Given the description of an element on the screen output the (x, y) to click on. 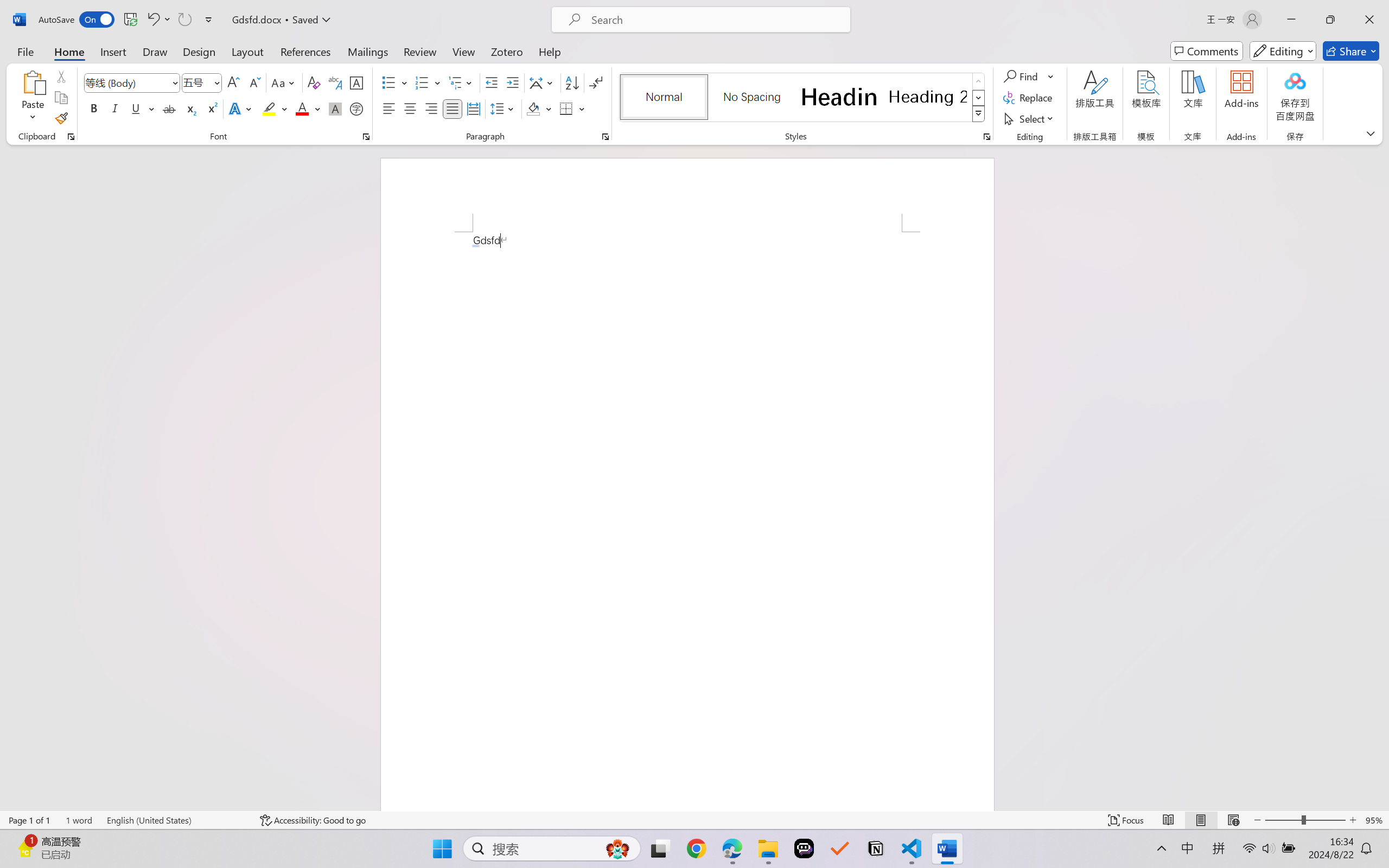
Shading (539, 108)
Font Color Red (302, 108)
Justify (452, 108)
Copy (60, 97)
Select (1030, 118)
